Given the description of an element on the screen output the (x, y) to click on. 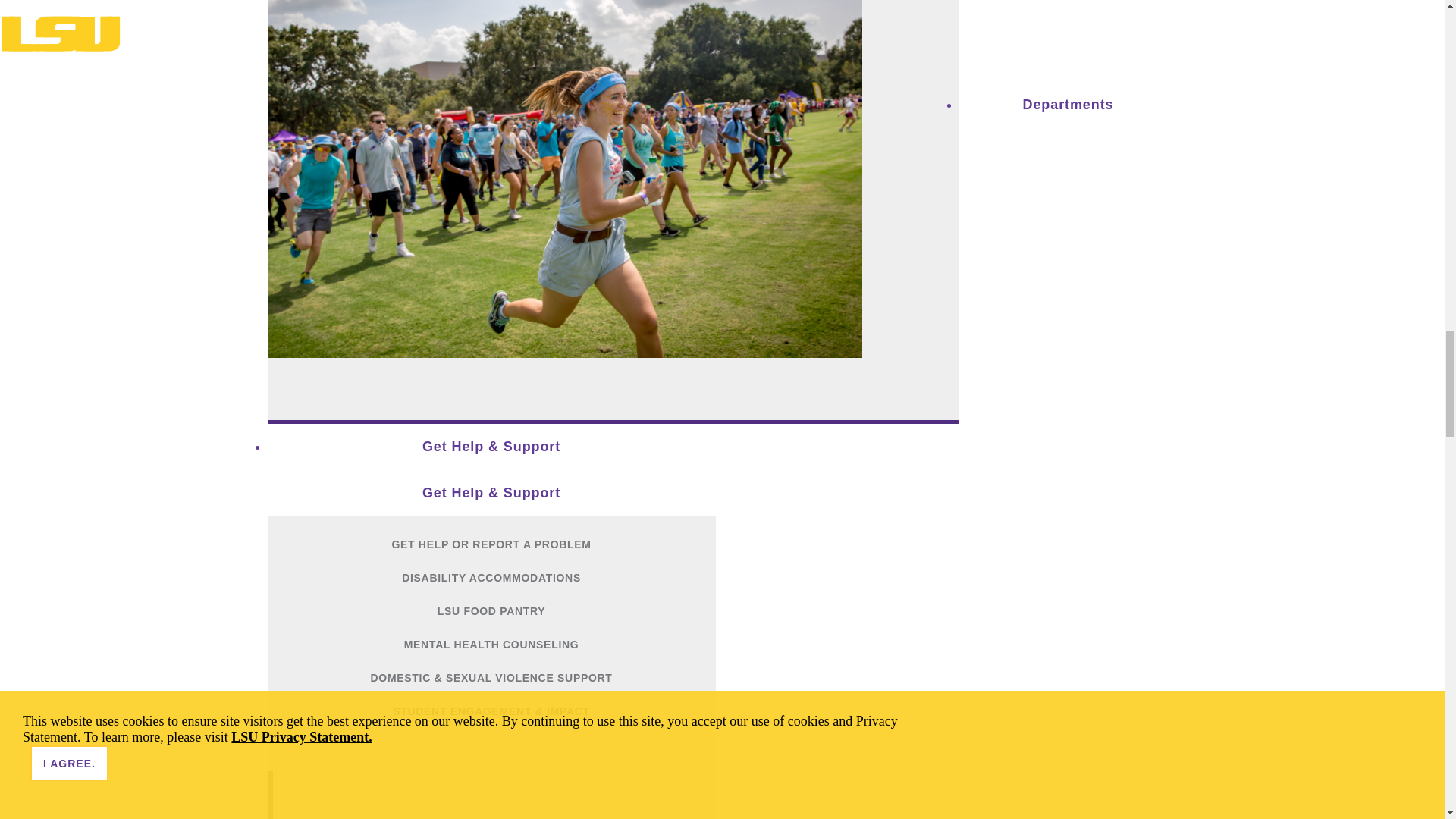
LSU FOOD PANTRY (490, 611)
MENTAL HEALTH COUNSELING (490, 644)
GET HELP OR REPORT A PROBLEM (490, 544)
Departments (1068, 104)
DISABILITY ACCOMMODATIONS (490, 577)
